Given the description of an element on the screen output the (x, y) to click on. 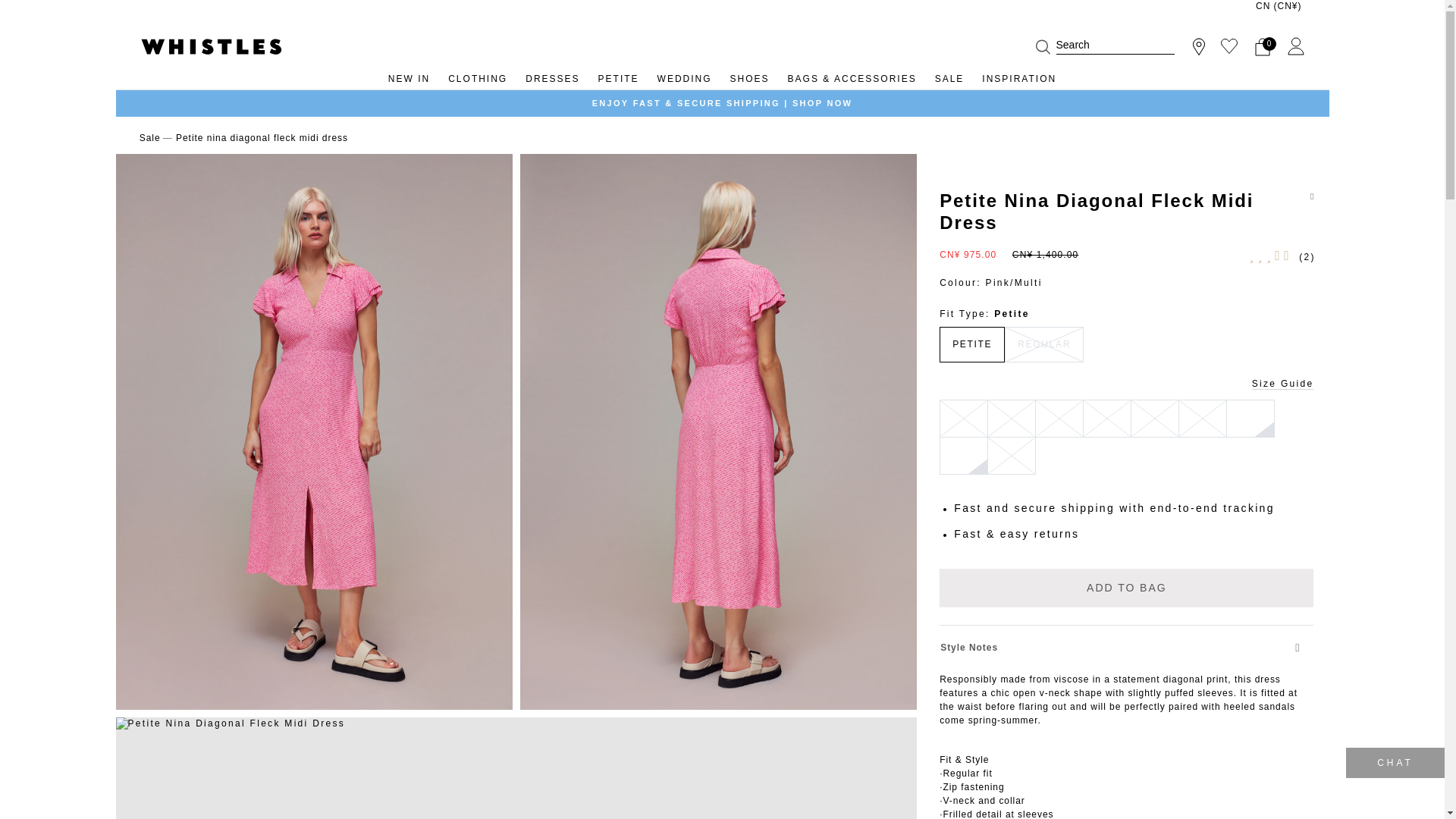
NEW IN (408, 81)
Whistles Home (210, 46)
0 (1261, 46)
View Bag (1261, 46)
